Given the description of an element on the screen output the (x, y) to click on. 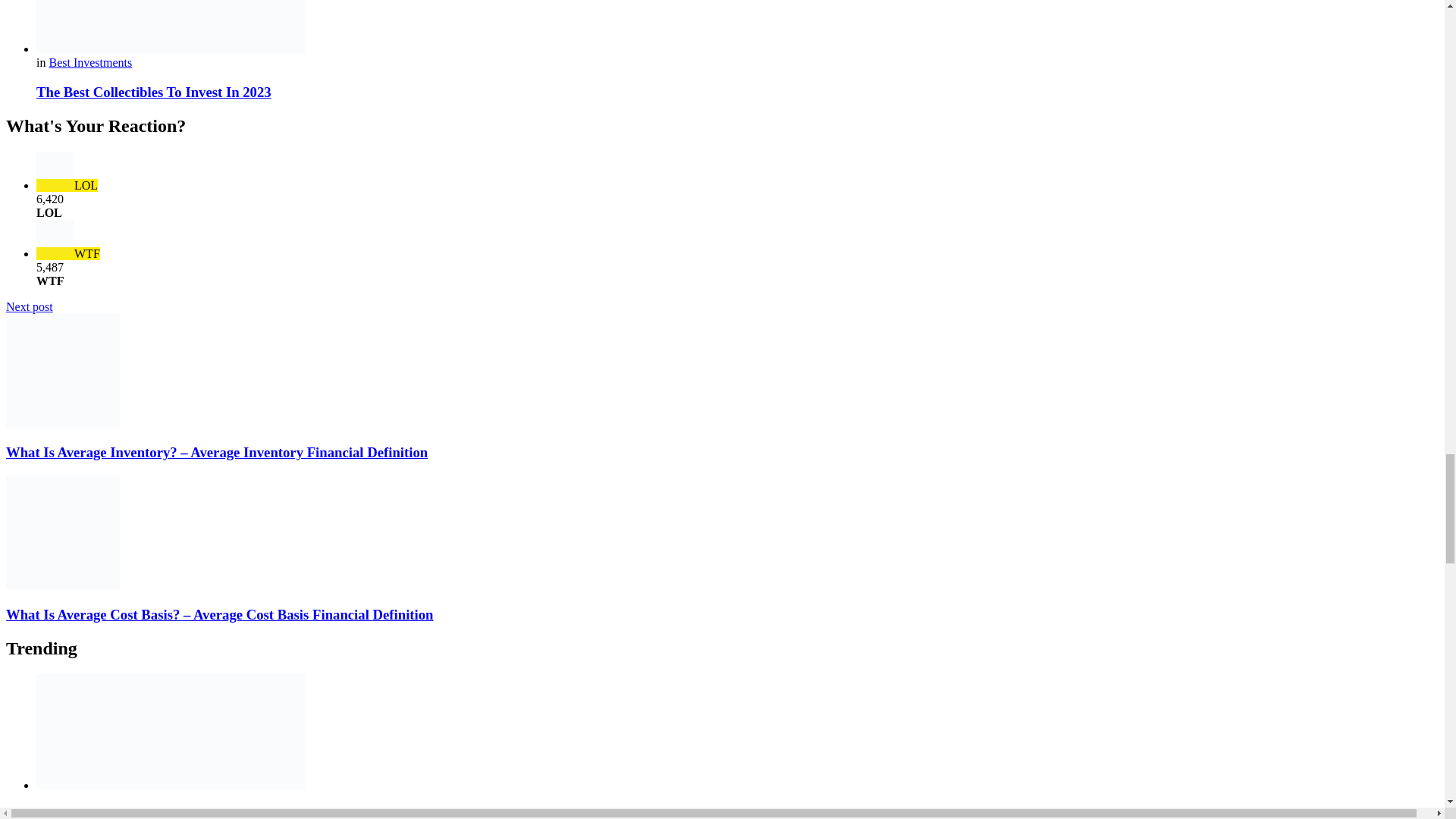
Next post (28, 306)
The Best Collectibles To Invest In 2023 (153, 91)
Best Investments (737, 267)
The Best Collectibles To Invest In 2023 (90, 62)
